Given the description of an element on the screen output the (x, y) to click on. 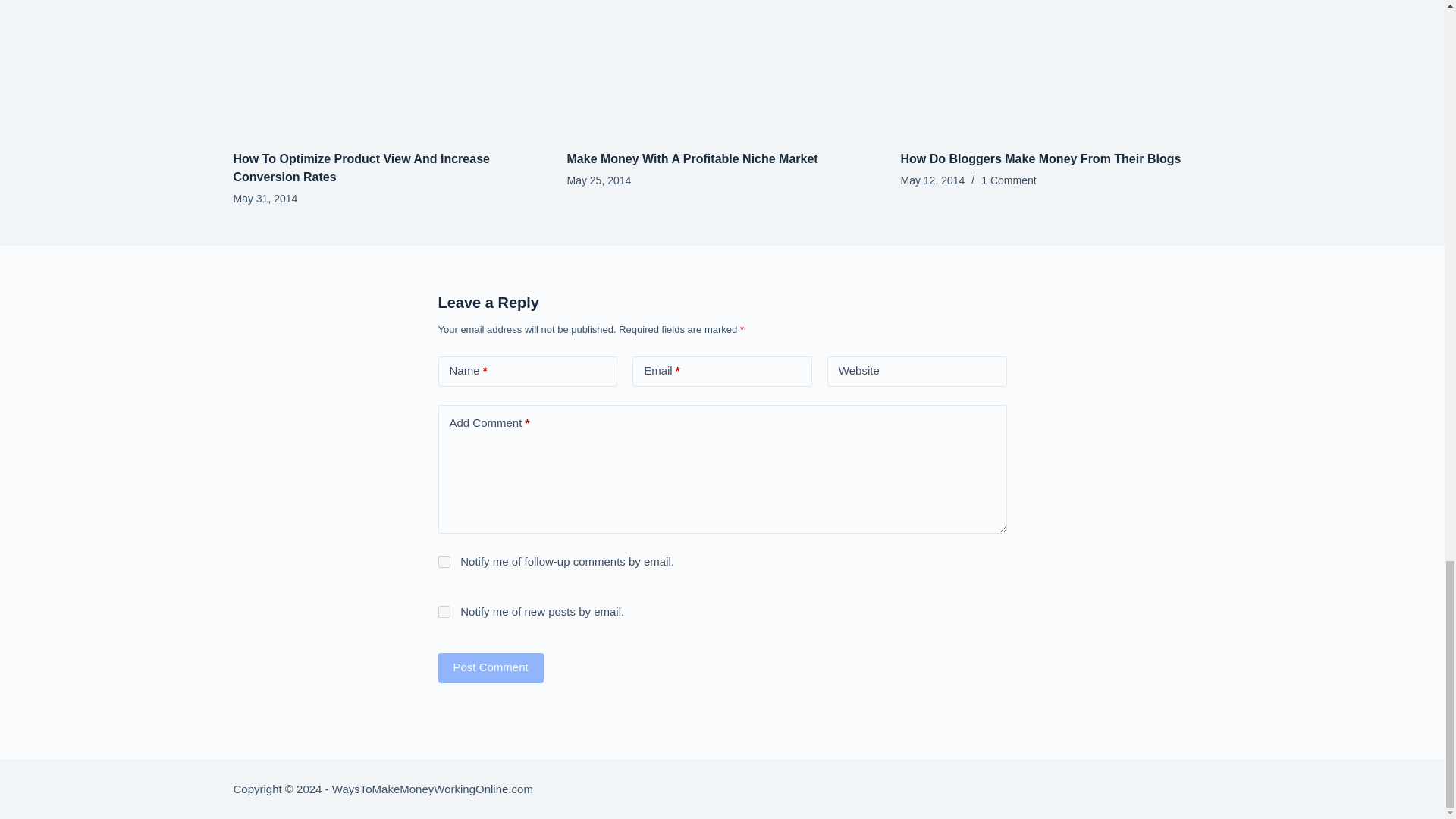
subscribe (443, 612)
How To Optimize Product View And Increase Conversion Rates (360, 167)
subscribe (443, 562)
